Given the description of an element on the screen output the (x, y) to click on. 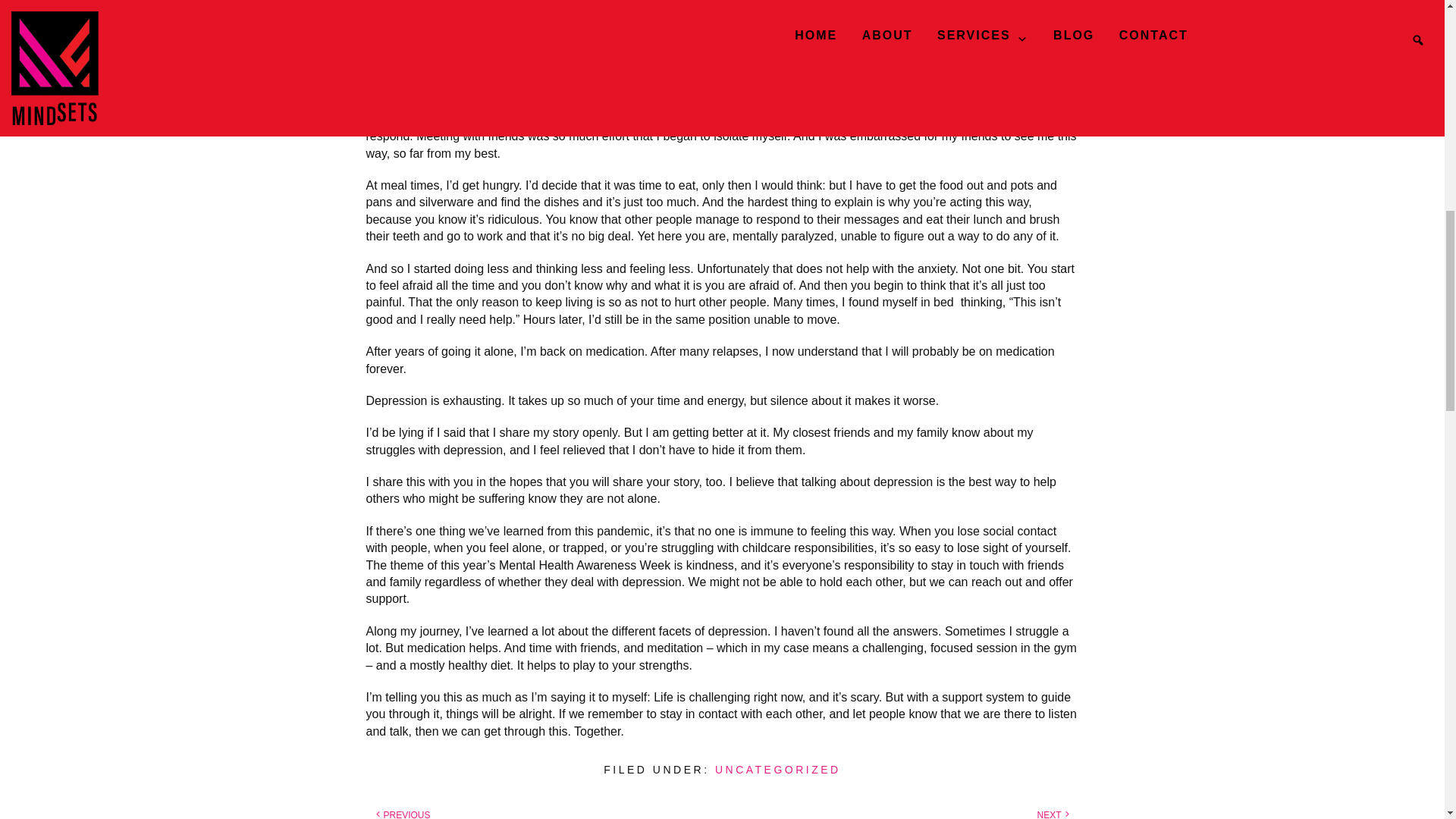
UNCATEGORIZED (777, 769)
NEXT (1048, 814)
Sign up here. (739, 69)
PREVIOUS (407, 814)
